Given the description of an element on the screen output the (x, y) to click on. 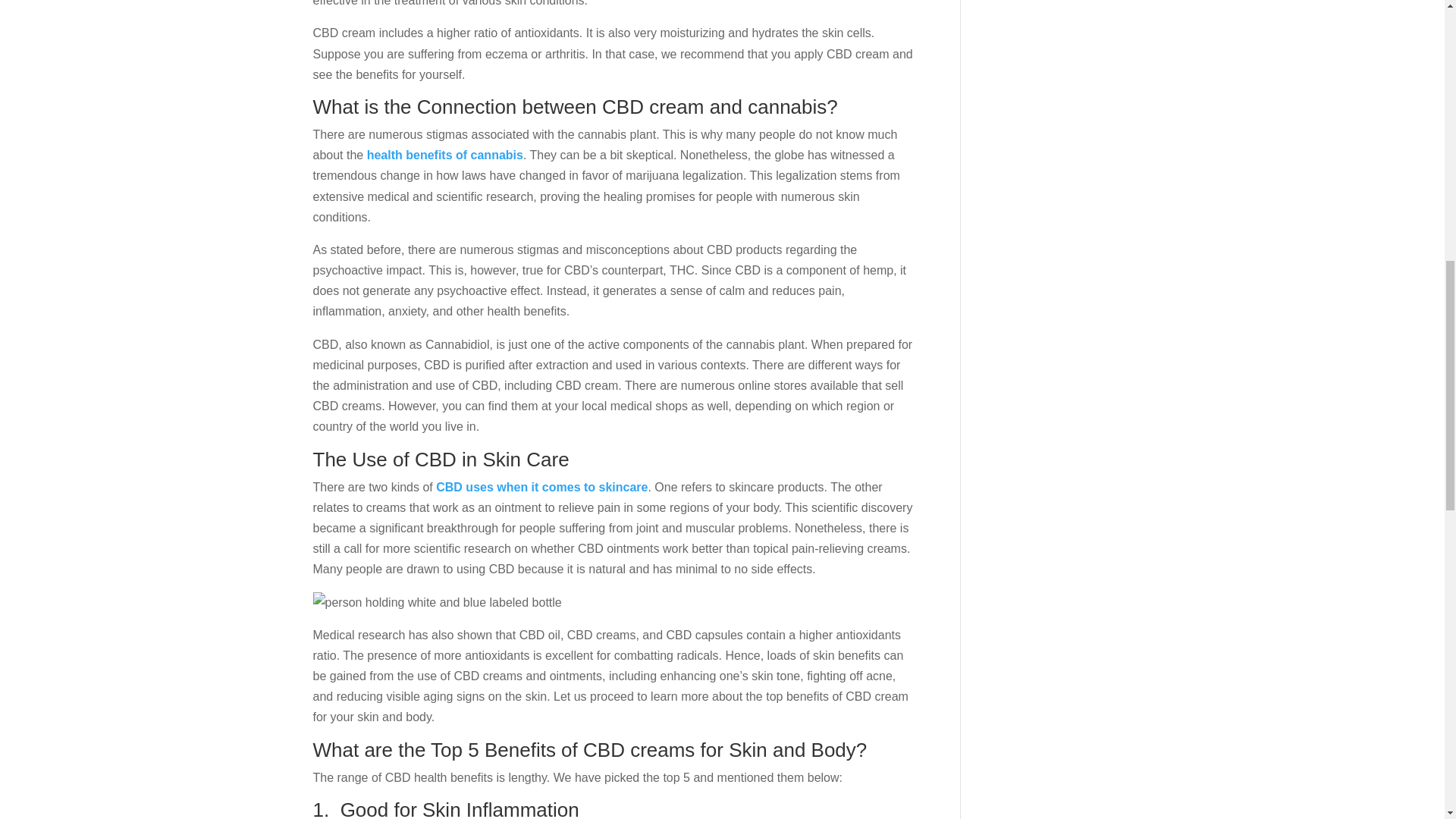
health benefits of cannabis (444, 154)
CBD uses when it comes to skincare (541, 486)
